Given the description of an element on the screen output the (x, y) to click on. 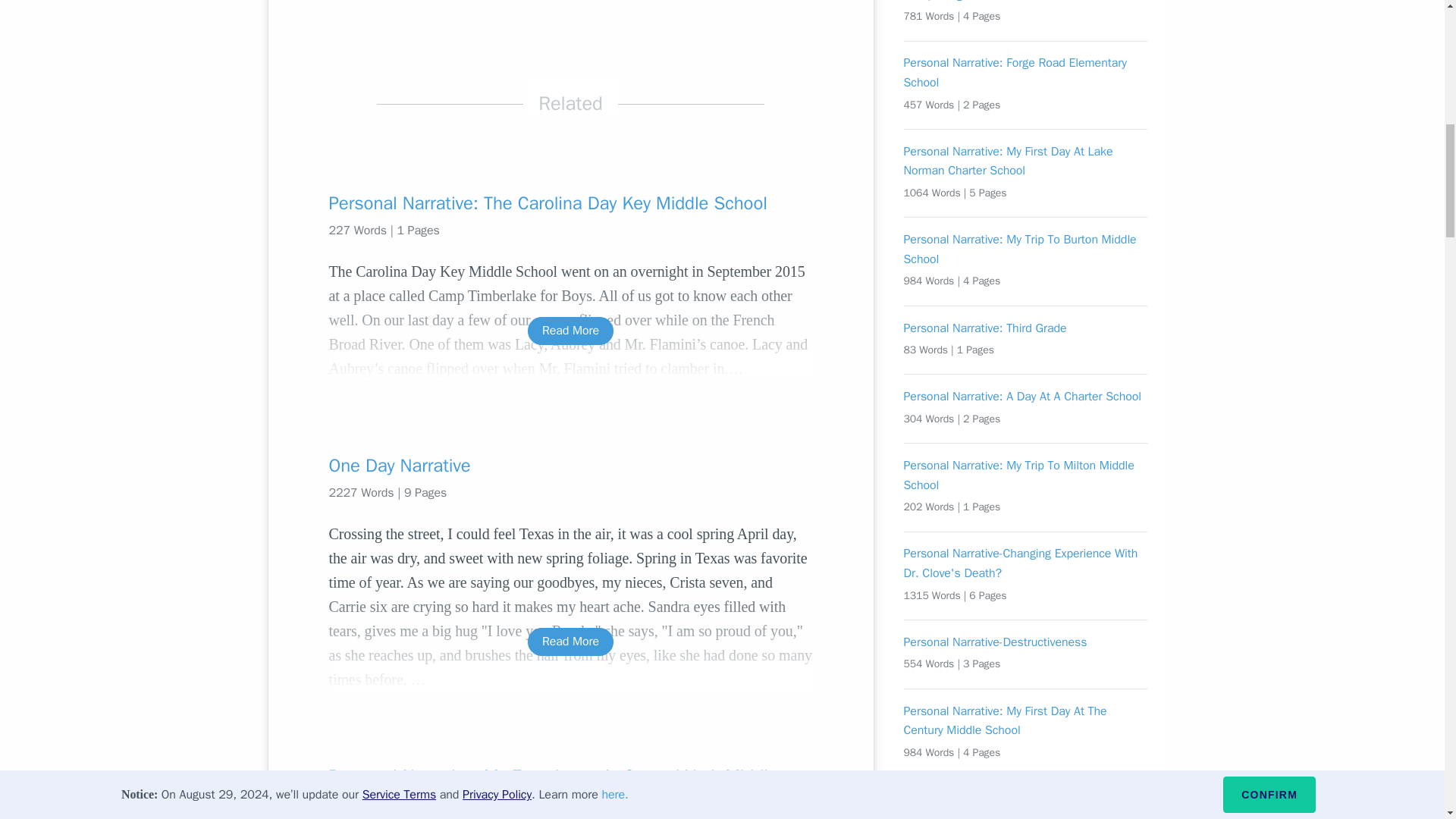
Read More (569, 642)
One Day Narrative (570, 465)
Read More (569, 330)
Personal Narrative: The Carolina Day Key Middle School (570, 202)
